Given the description of an element on the screen output the (x, y) to click on. 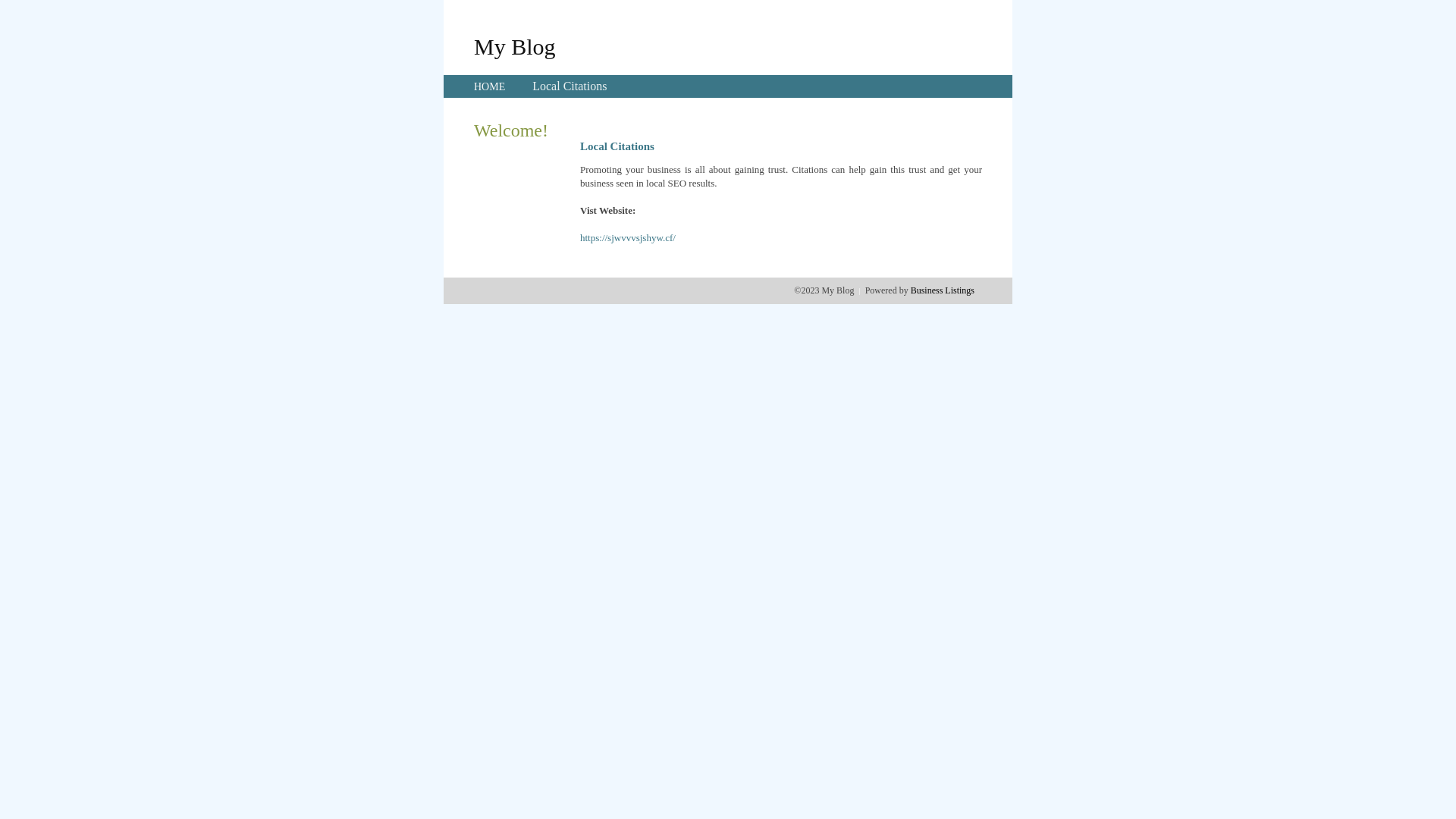
My Blog Element type: text (514, 46)
HOME Element type: text (489, 86)
https://sjwvvvsjshyw.cf/ Element type: text (627, 237)
Local Citations Element type: text (569, 85)
Business Listings Element type: text (942, 290)
